Given the description of an element on the screen output the (x, y) to click on. 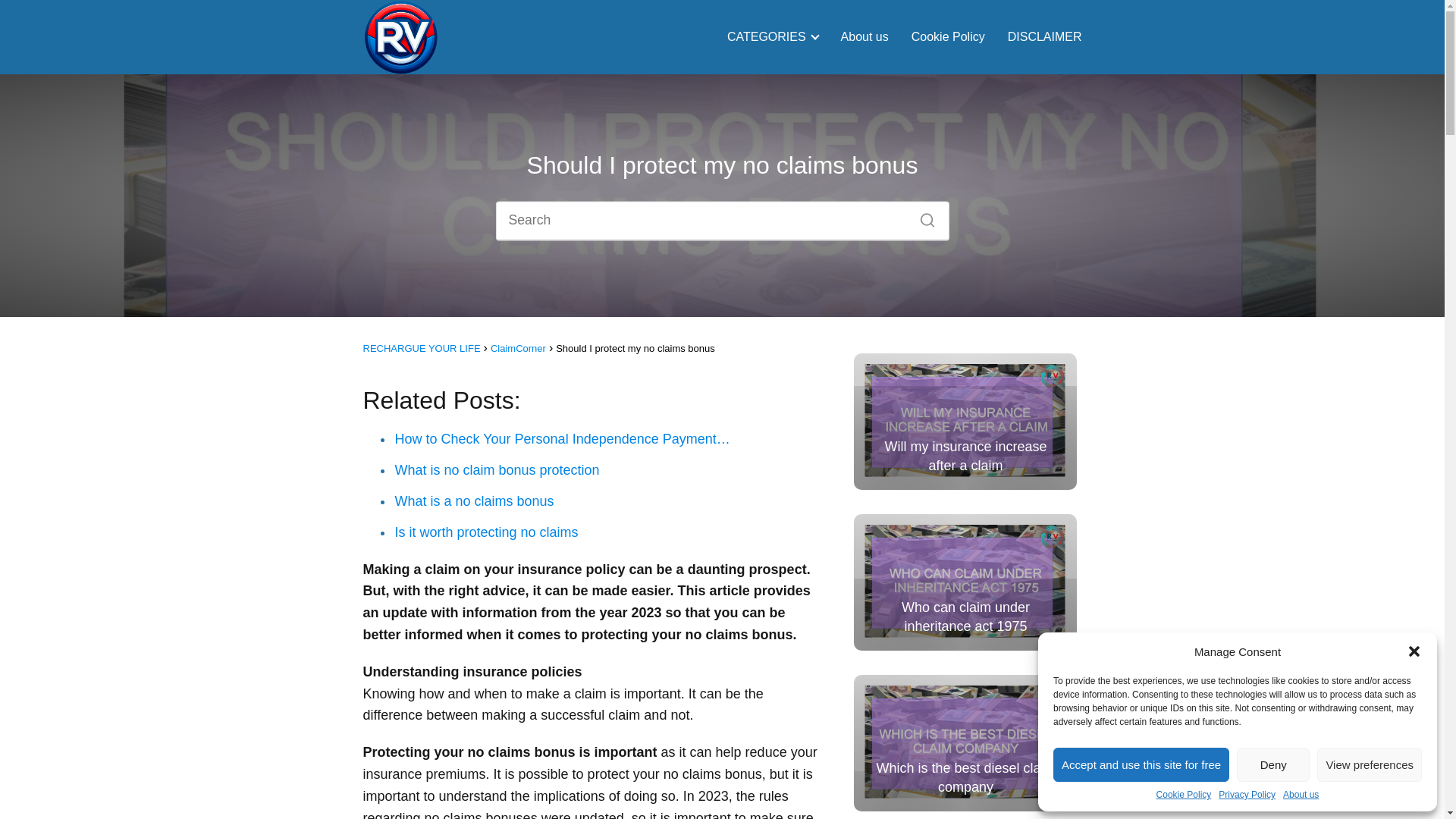
CATEGORIES (769, 36)
About us (1300, 794)
Privacy Policy (1246, 794)
Accept and use this site for free (1140, 764)
View preferences (1369, 764)
Cookie Policy (1183, 794)
Deny (1272, 764)
